Given the description of an element on the screen output the (x, y) to click on. 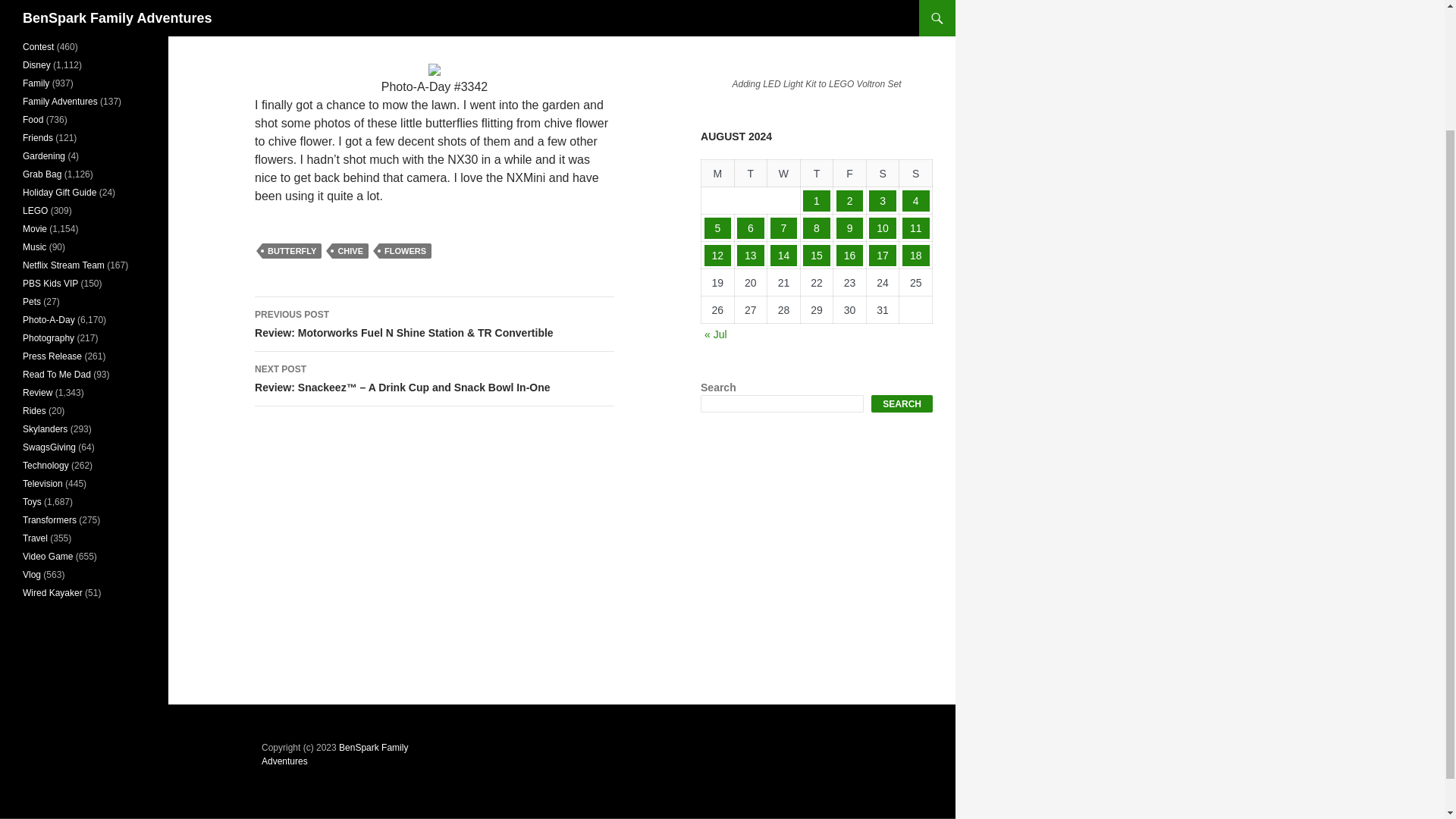
14 (783, 255)
Tuesday (750, 173)
8 (816, 228)
FLOWERS (404, 250)
6 (750, 228)
17 (882, 255)
Review: Getting Wild With the Bezgar HP161S RC Truck (816, 35)
9 (849, 228)
5 (718, 228)
Saturday (882, 173)
